Given the description of an element on the screen output the (x, y) to click on. 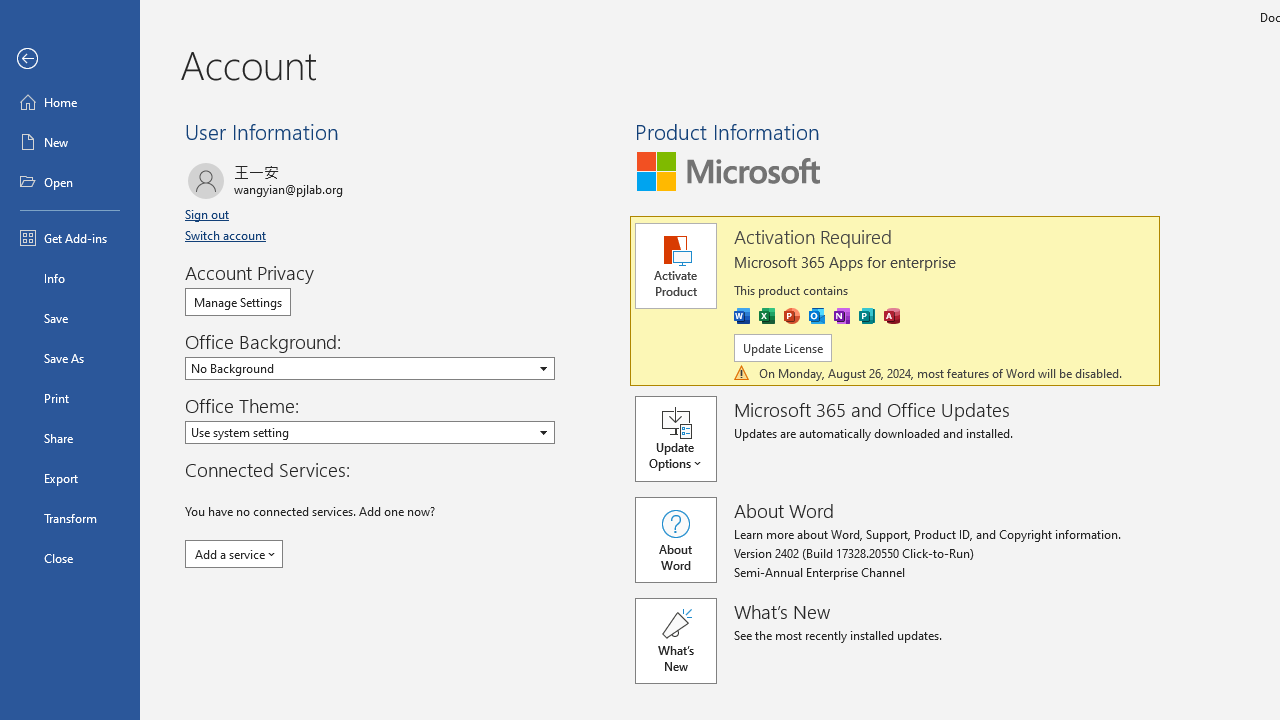
Outlook (816, 316)
Update License (782, 348)
Back (69, 59)
Export (69, 477)
Manage Settings (237, 302)
